Given the description of an element on the screen output the (x, y) to click on. 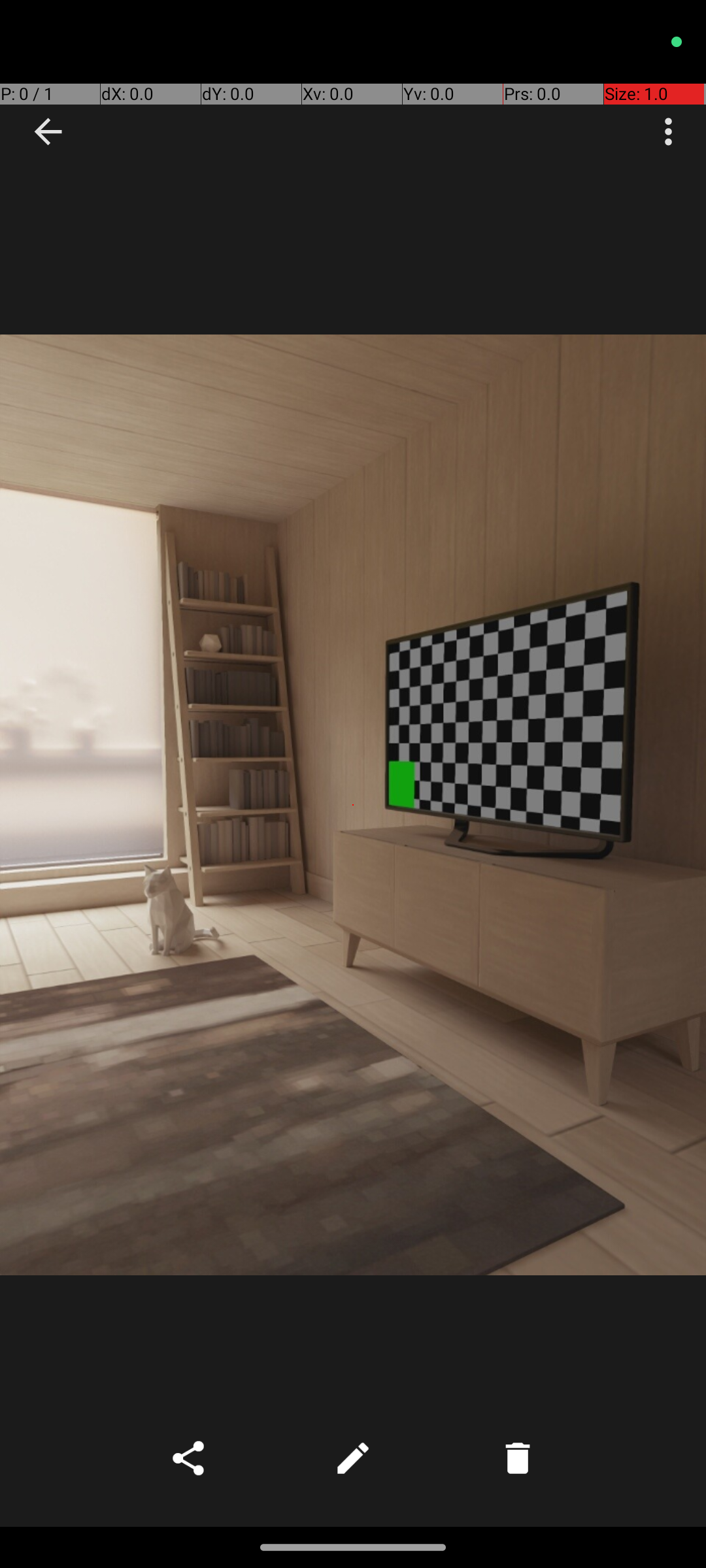
Photo taken on Oct 15, 2023 15:34:17 Element type: android.widget.ImageView (353, 804)
